Given the description of an element on the screen output the (x, y) to click on. 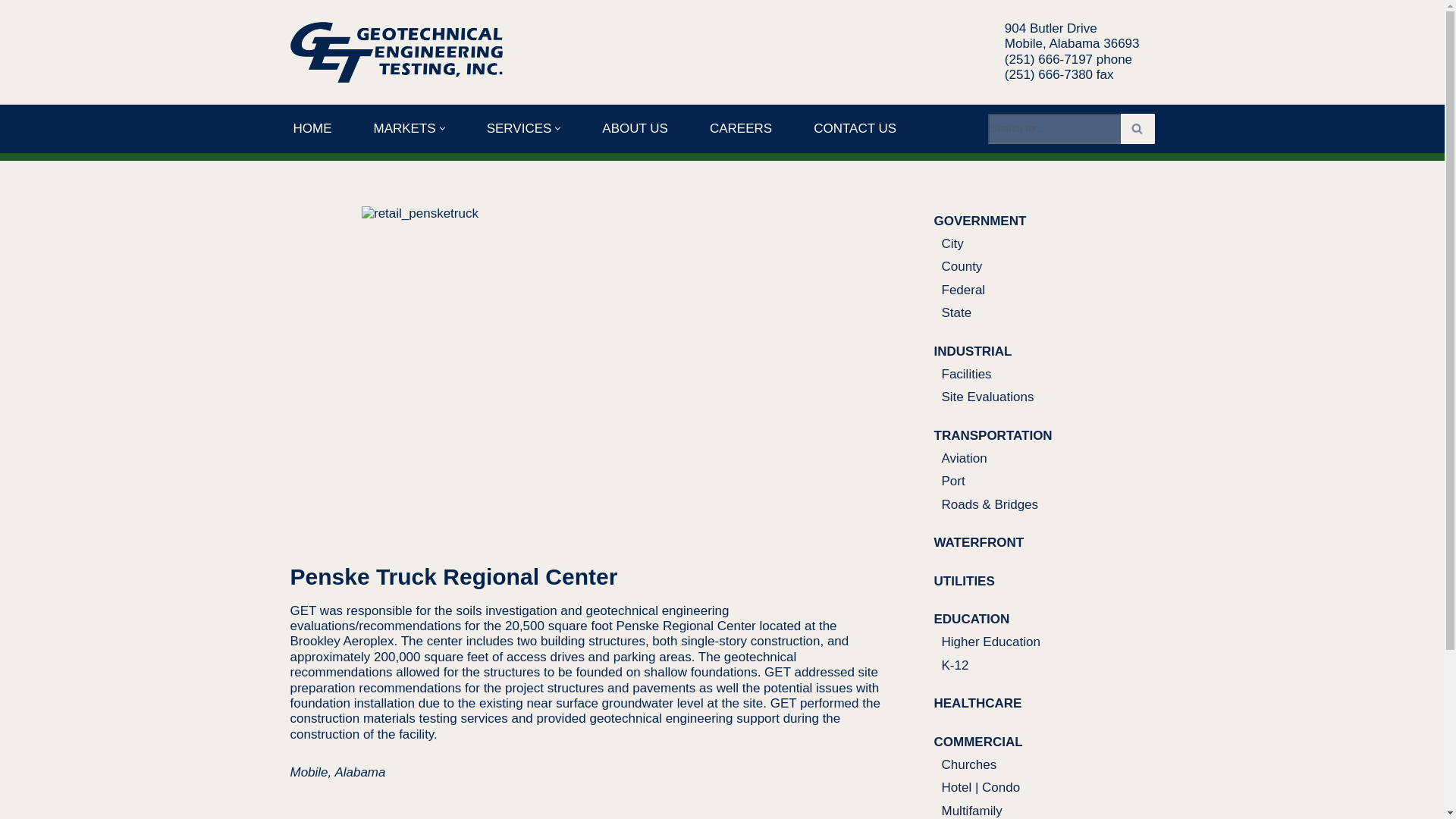
CAREERS (740, 127)
Skip to content (11, 31)
CONTACT US (854, 127)
ABOUT US (635, 127)
HOME (311, 127)
SERVICES (518, 127)
MARKETS (403, 127)
